Given the description of an element on the screen output the (x, y) to click on. 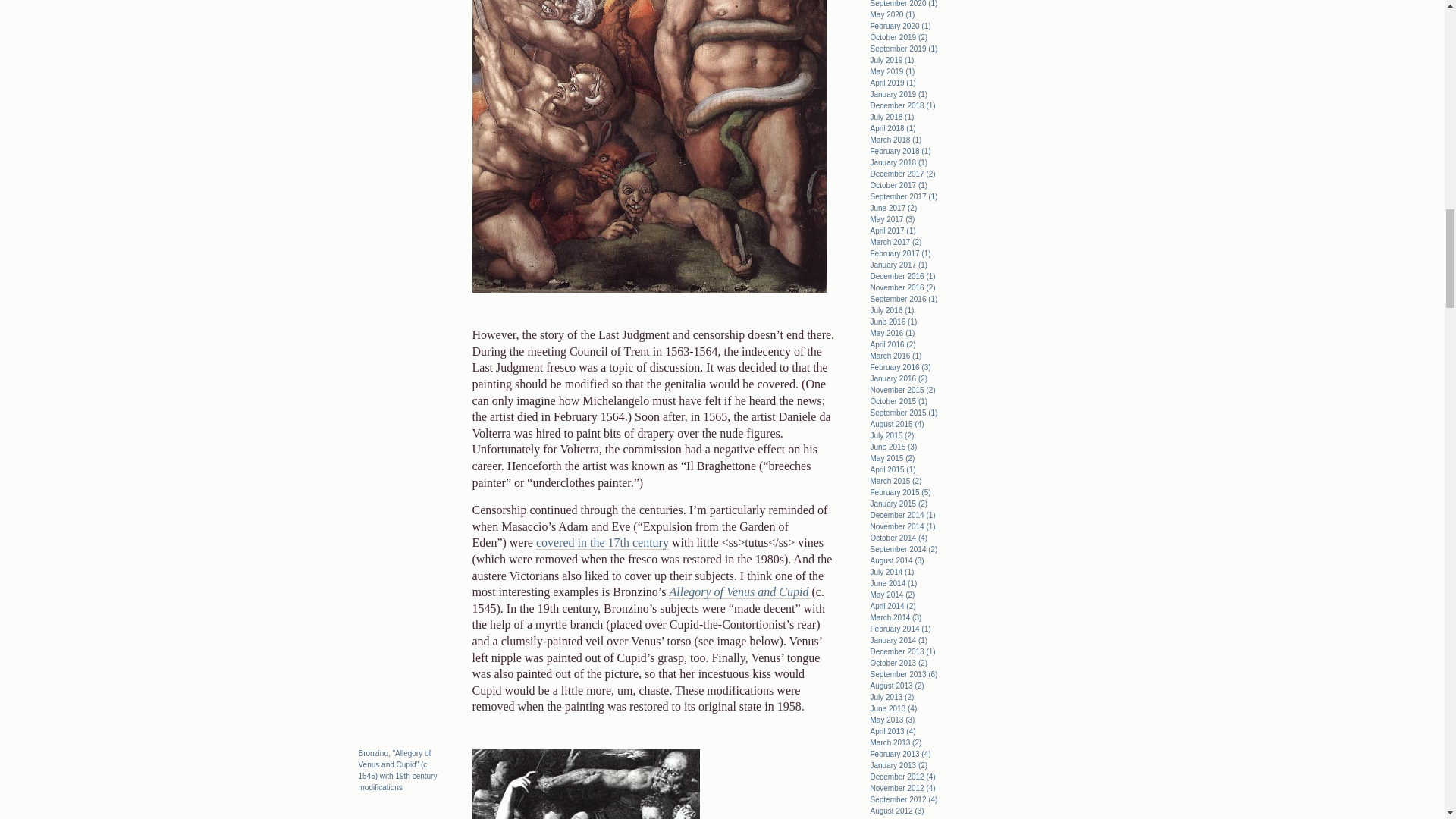
covered in the 17th century (601, 542)
